Given the description of an element on the screen output the (x, y) to click on. 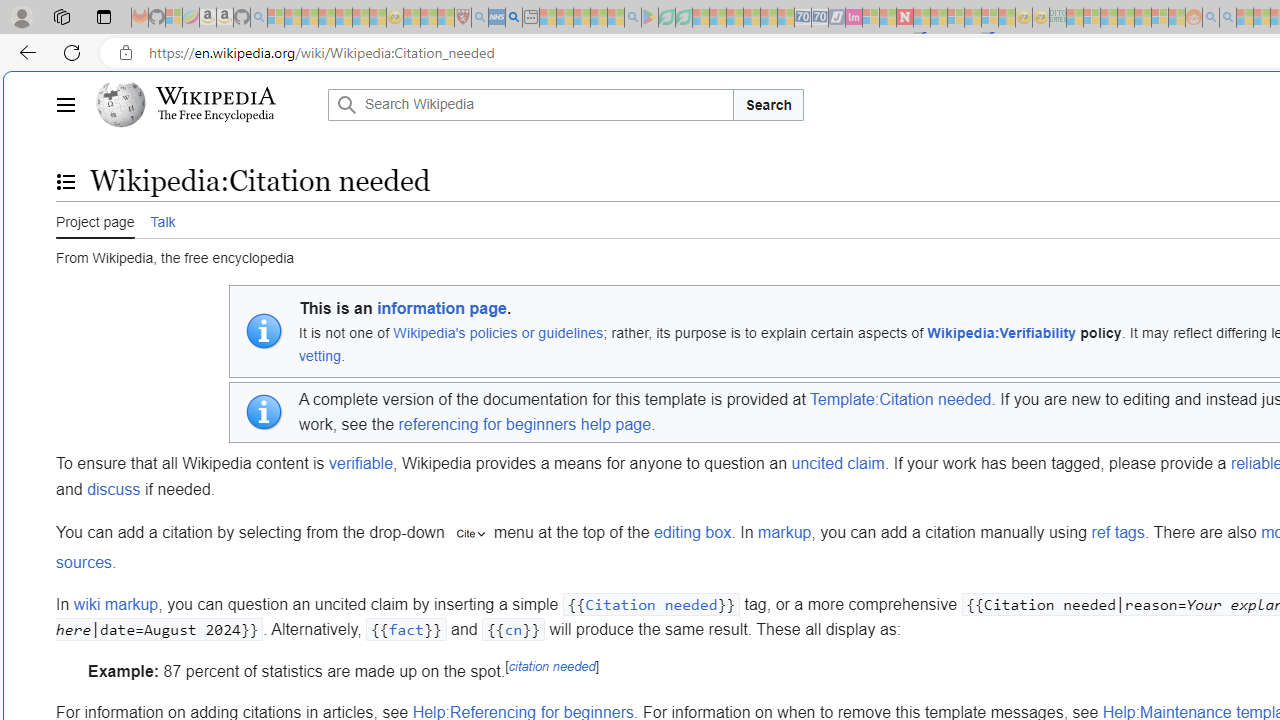
"cite" (469, 533)
fact (405, 629)
markup (784, 533)
